Given the description of an element on the screen output the (x, y) to click on. 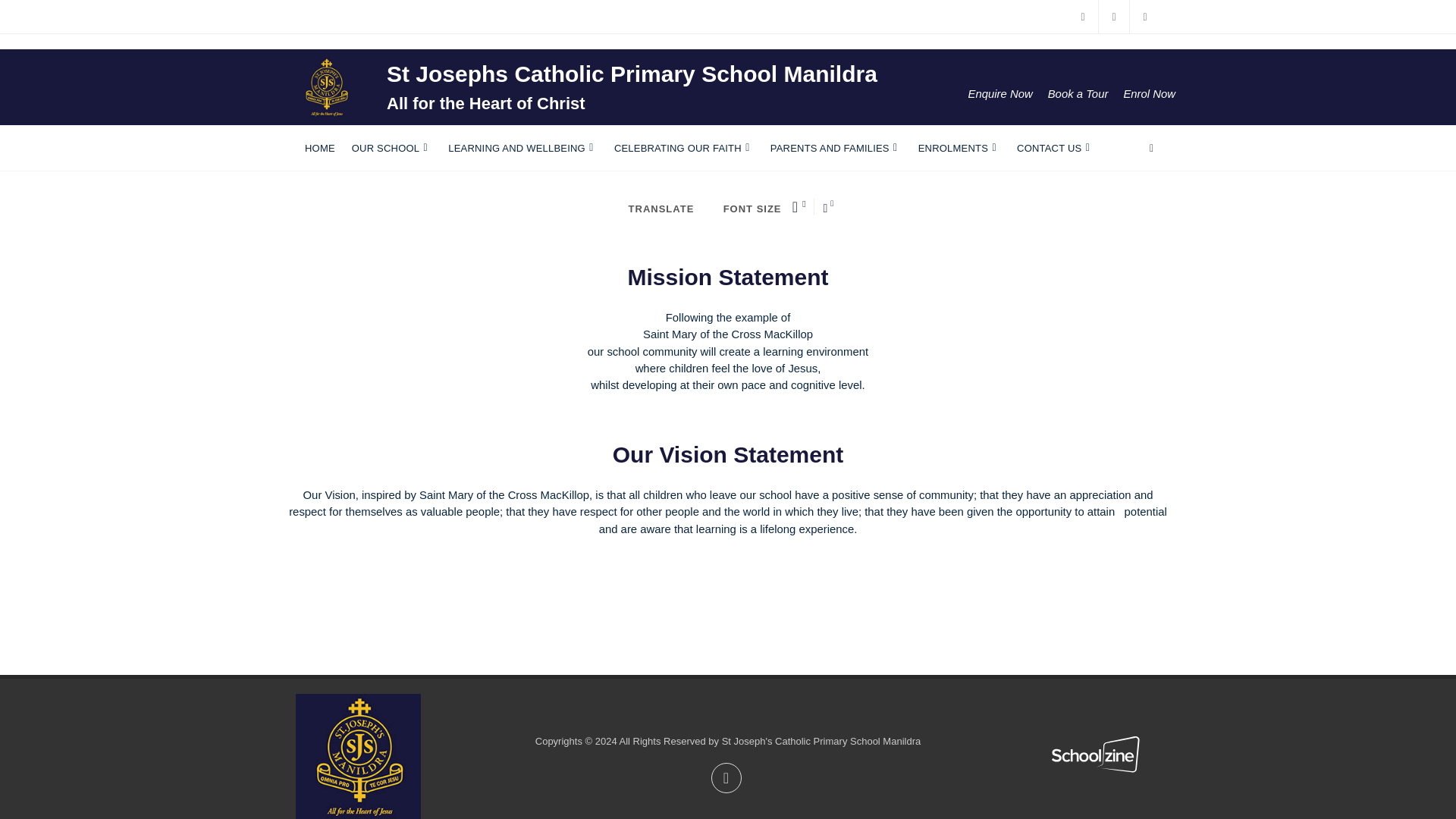
Book a Tour (1078, 93)
ENROLMENTS (959, 148)
PARENTS AND FAMILIES (835, 148)
Enrolments (959, 148)
Home (319, 148)
Enrol Now (1148, 93)
CONTACT US (1054, 148)
Parents and Families (835, 148)
Celebrating our Faith (684, 148)
Our School (391, 148)
LEARNING AND WELLBEING (523, 148)
CELEBRATING OUR FAITH (684, 148)
Enquire Now (1000, 93)
Learning and Wellbeing (523, 148)
HOME (319, 148)
